Given the description of an element on the screen output the (x, y) to click on. 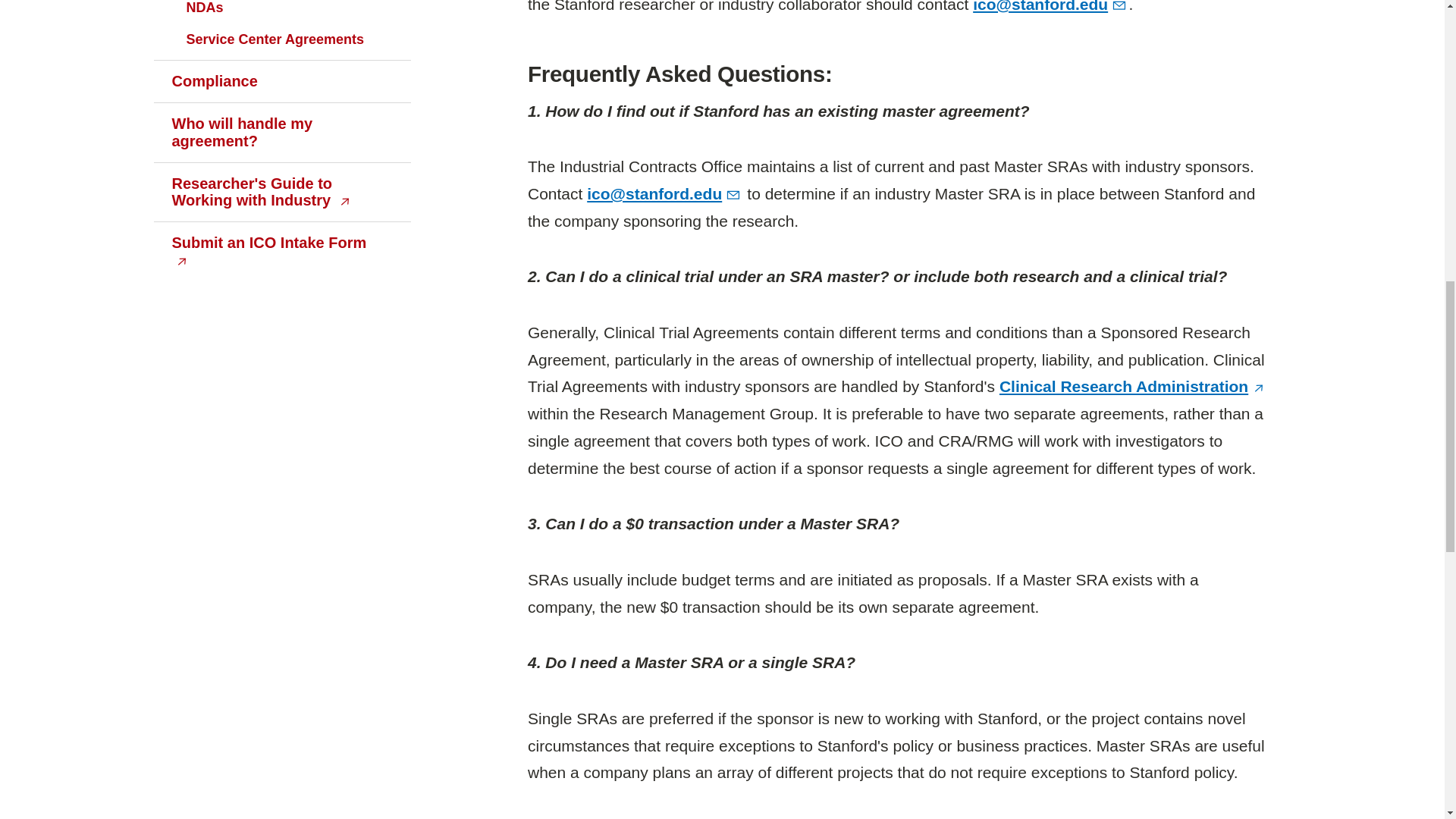
Submit an agreement request to ICO (281, 251)
PDF brochure (281, 191)
